Given the description of an element on the screen output the (x, y) to click on. 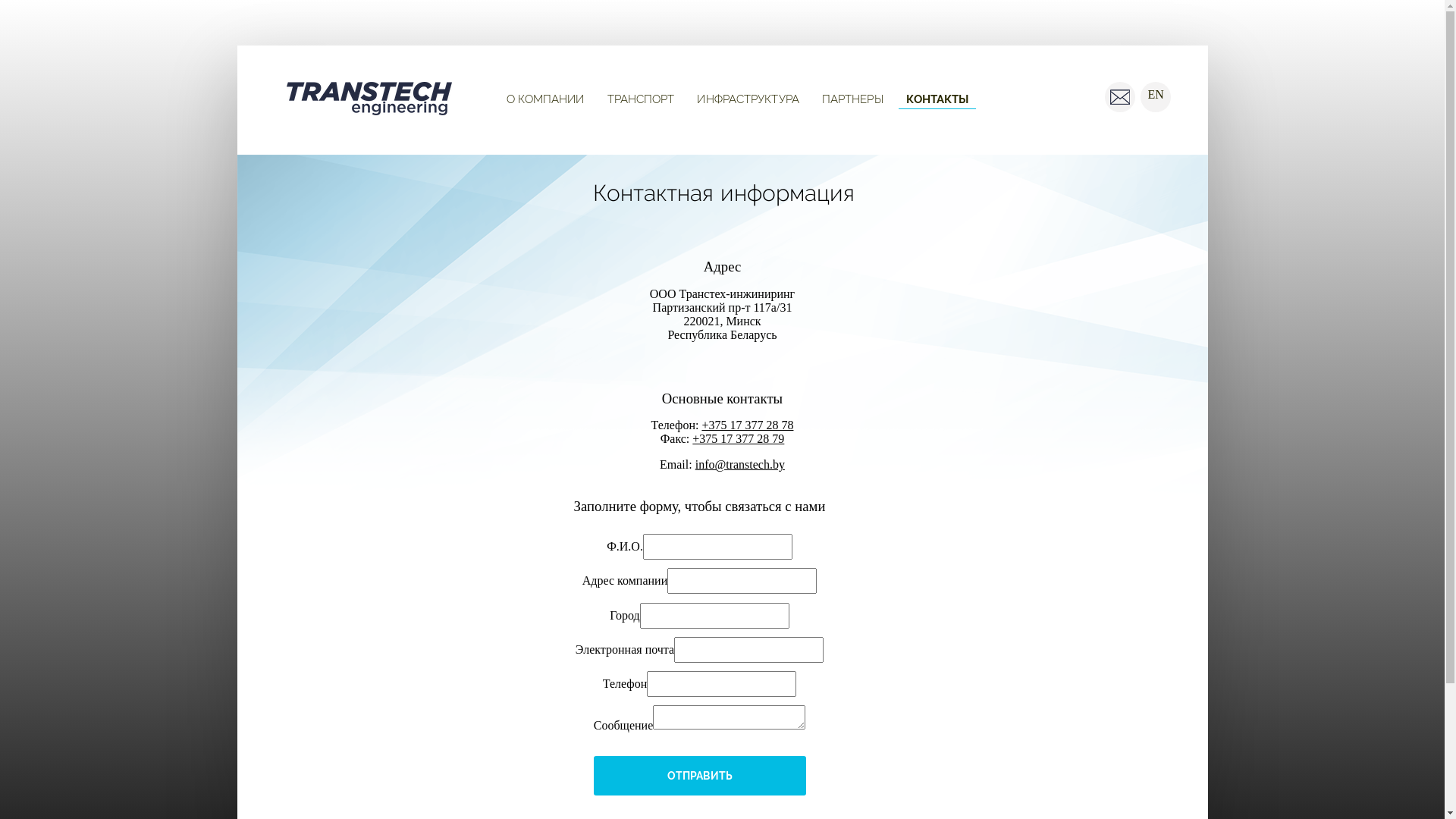
+375 17 377 28 79 Element type: text (738, 438)
+375 17 377 28 78 Element type: text (747, 424)
  Element type: text (1119, 96)
info@transtech.by Element type: text (739, 464)
